Given the description of an element on the screen output the (x, y) to click on. 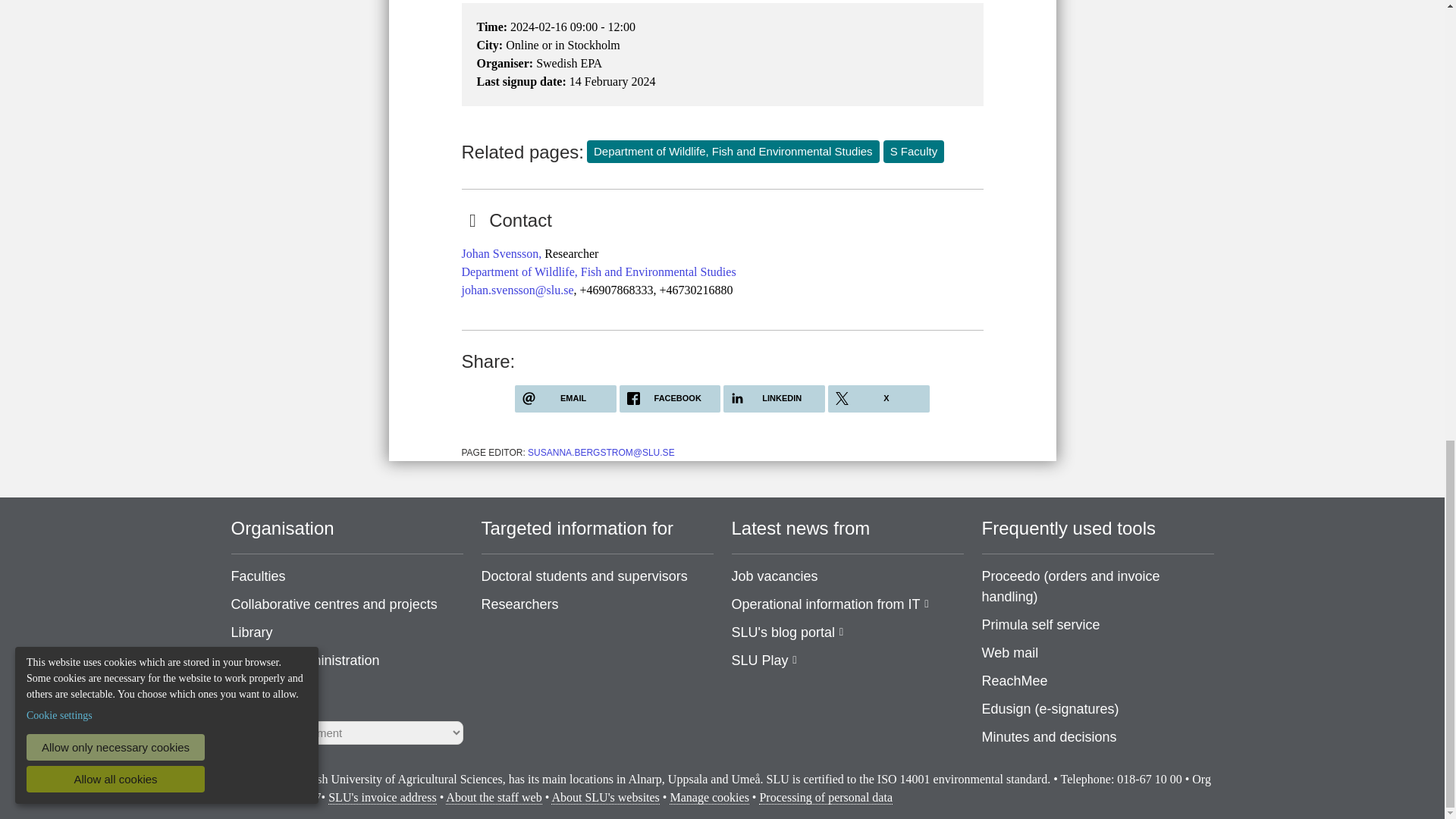
Department of Wildlife, Fish and Environmental Studies (598, 271)
